Given the description of an element on the screen output the (x, y) to click on. 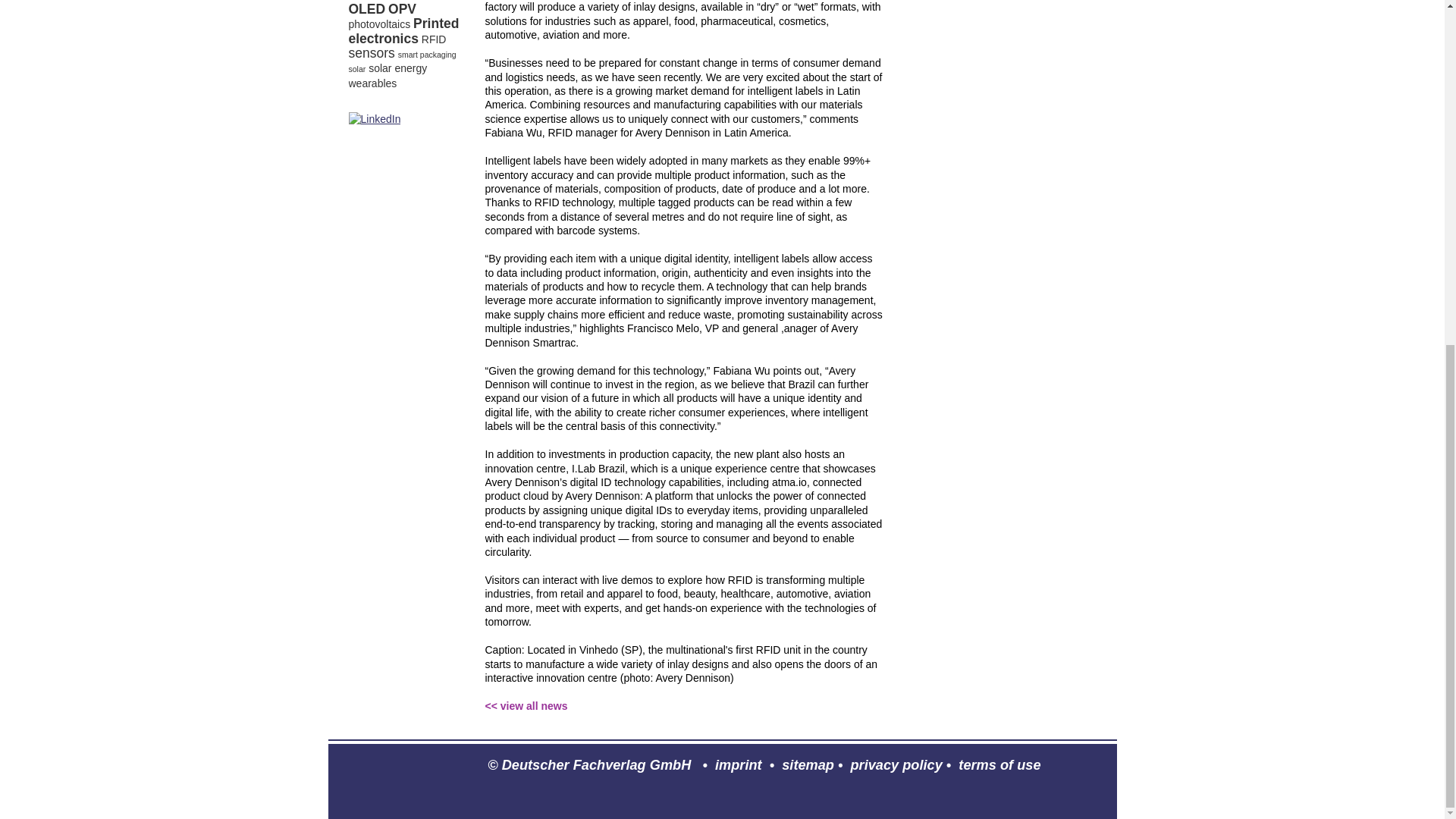
OPV (402, 8)
OLED (367, 8)
Go back (525, 705)
LOPEC (389, 0)
Printed electronics (404, 30)
photovoltaics (379, 24)
RFID (434, 39)
